Given the description of an element on the screen output the (x, y) to click on. 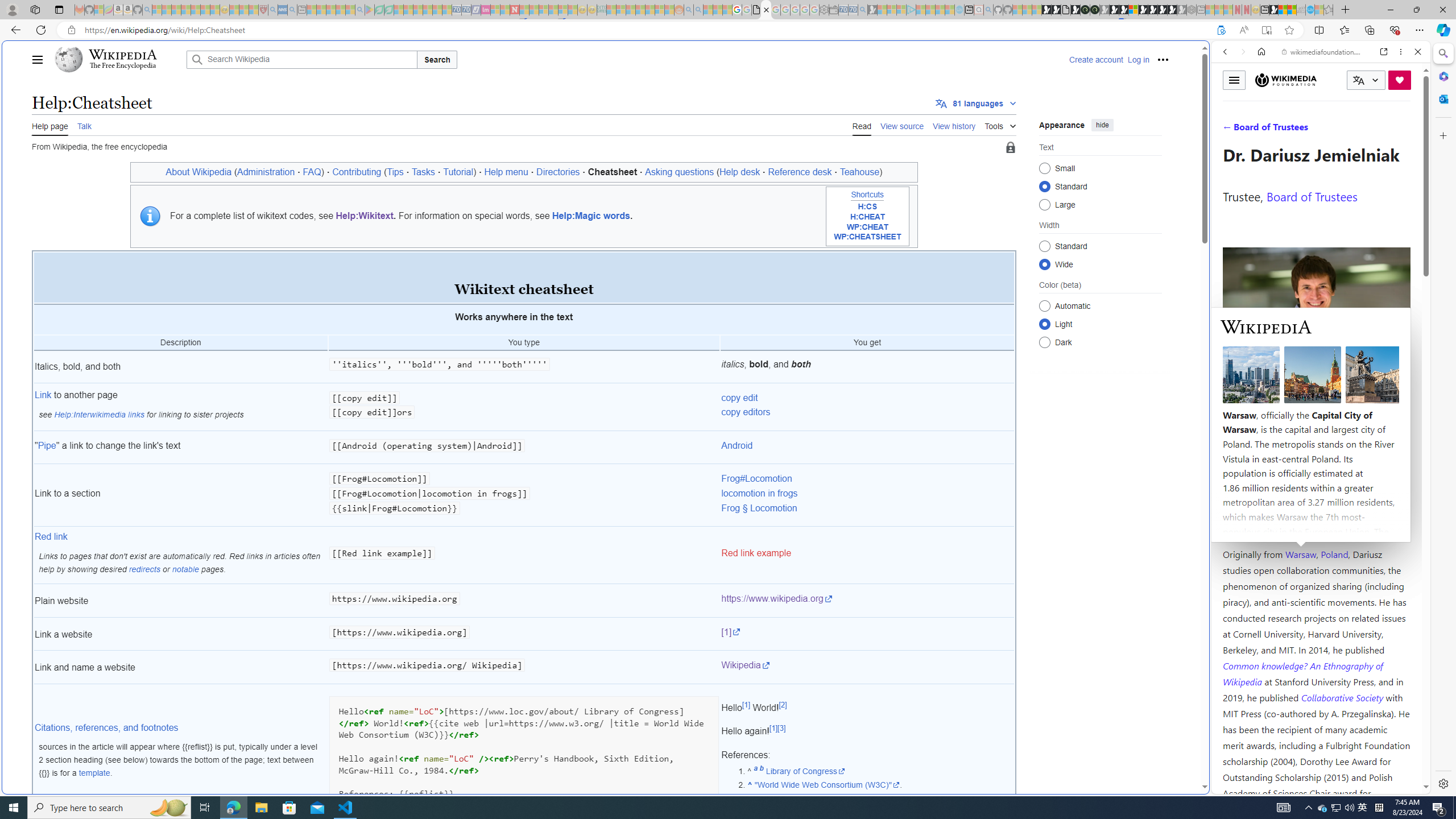
Pets - MSN - Sleeping (340, 9)
Class: mw-list-item mw-list-item-js (1100, 323)
Tutorial (457, 172)
b (761, 770)
copy editors (745, 412)
Help page (50, 124)
Light (1044, 323)
Android (866, 447)
